Given the description of an element on the screen output the (x, y) to click on. 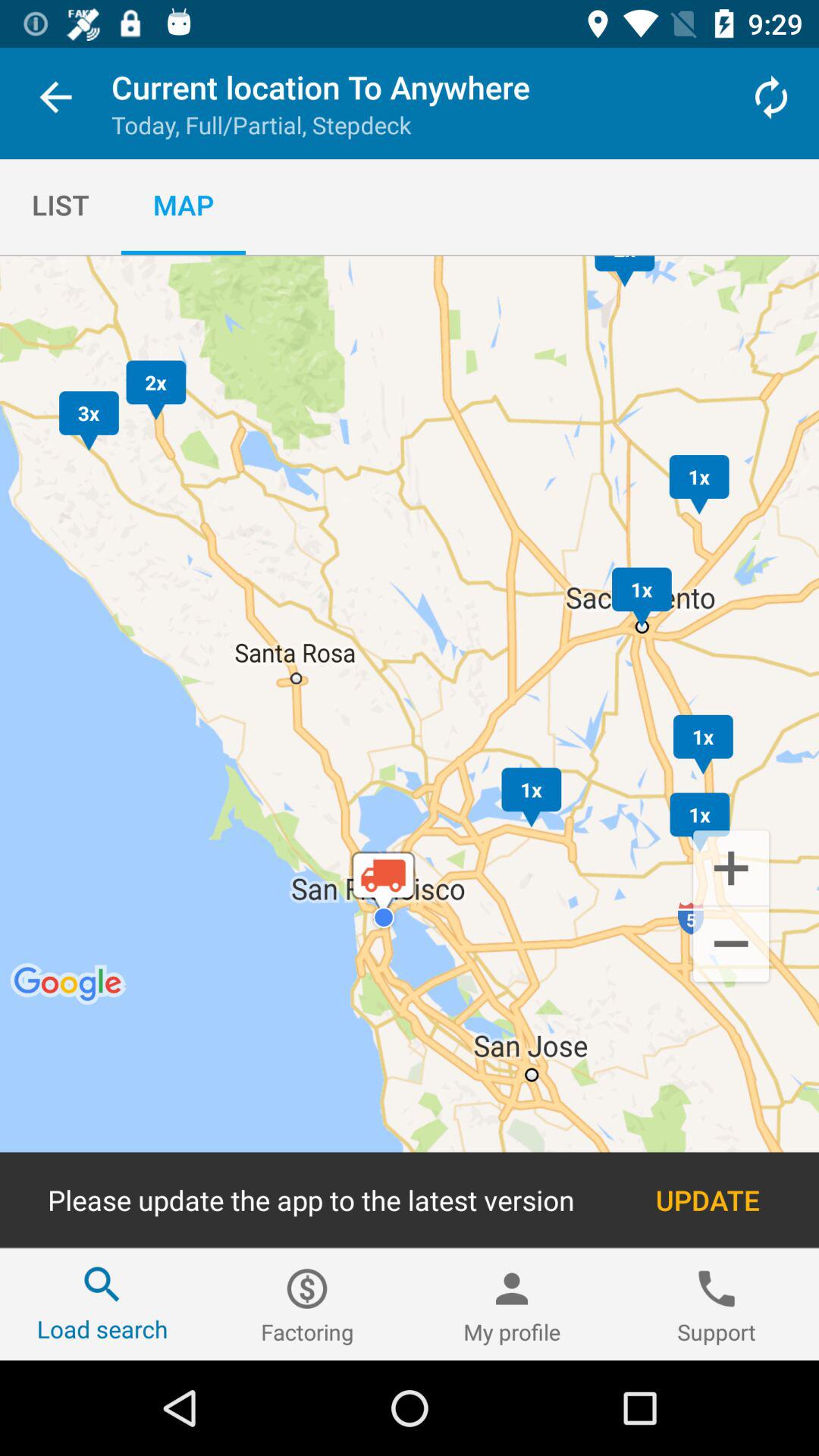
click the item to the left of my profile (306, 1304)
